Given the description of an element on the screen output the (x, y) to click on. 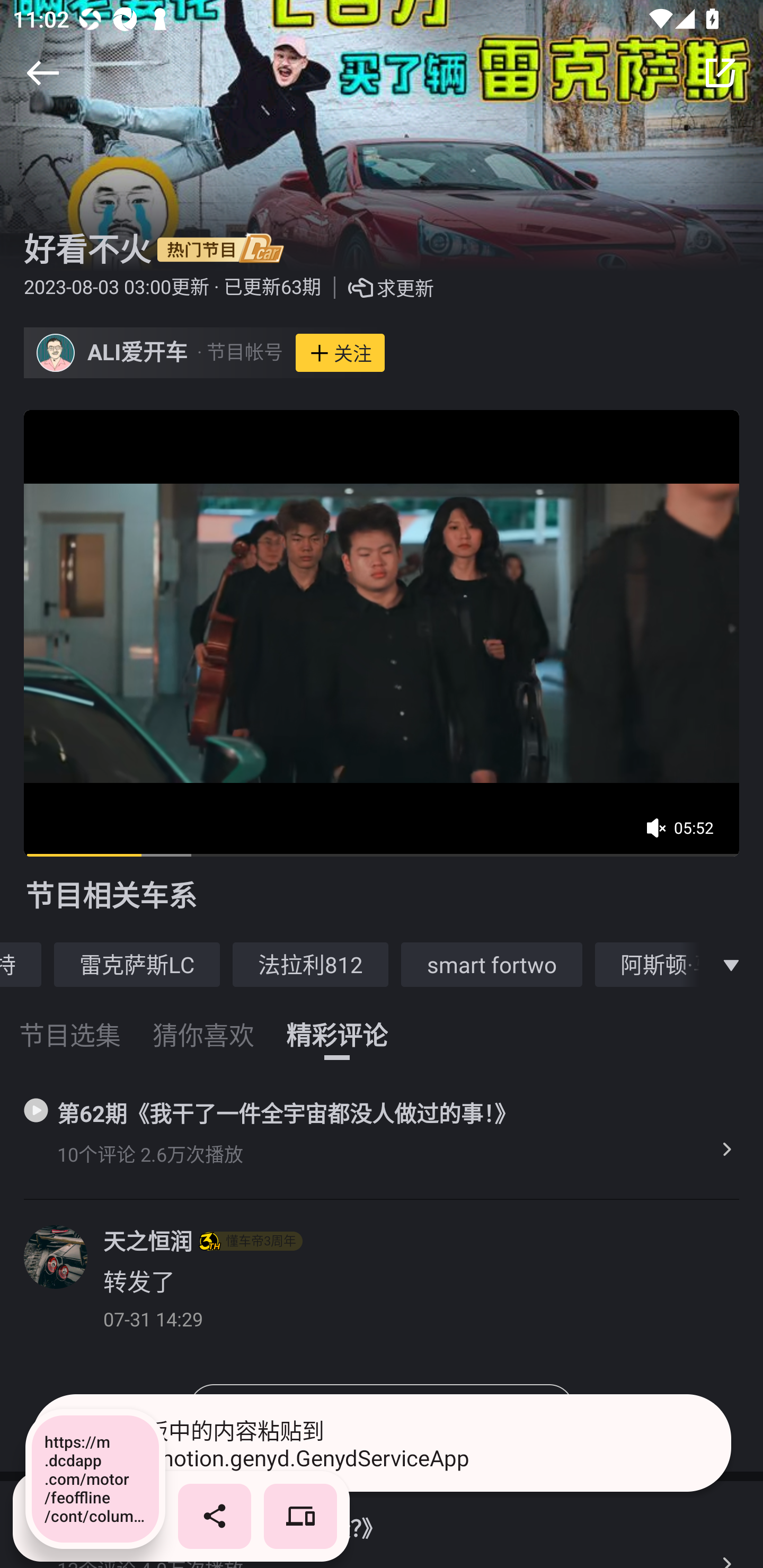
 (42, 72)
 (720, 72)
 求更新 (377, 287)
ALI爱开车 (137, 352)
· 节目帐号 (239, 352)
 关注 (340, 352)
05:52 (685, 834)
 (731, 963)
雷克萨斯LC (136, 964)
法拉利812 (310, 964)
smart fortwo (491, 964)
节目选集 (69, 1023)
猜你喜欢 (203, 1023)
精彩评论 (336, 1023)
第62期《我干了一件全宇宙都没人做过的事！》 10个评论 2.6万次播放 (381, 1132)
天之恒润 (147, 1240)
懂车帝3周年 (250, 1240)
